Given the description of an element on the screen output the (x, y) to click on. 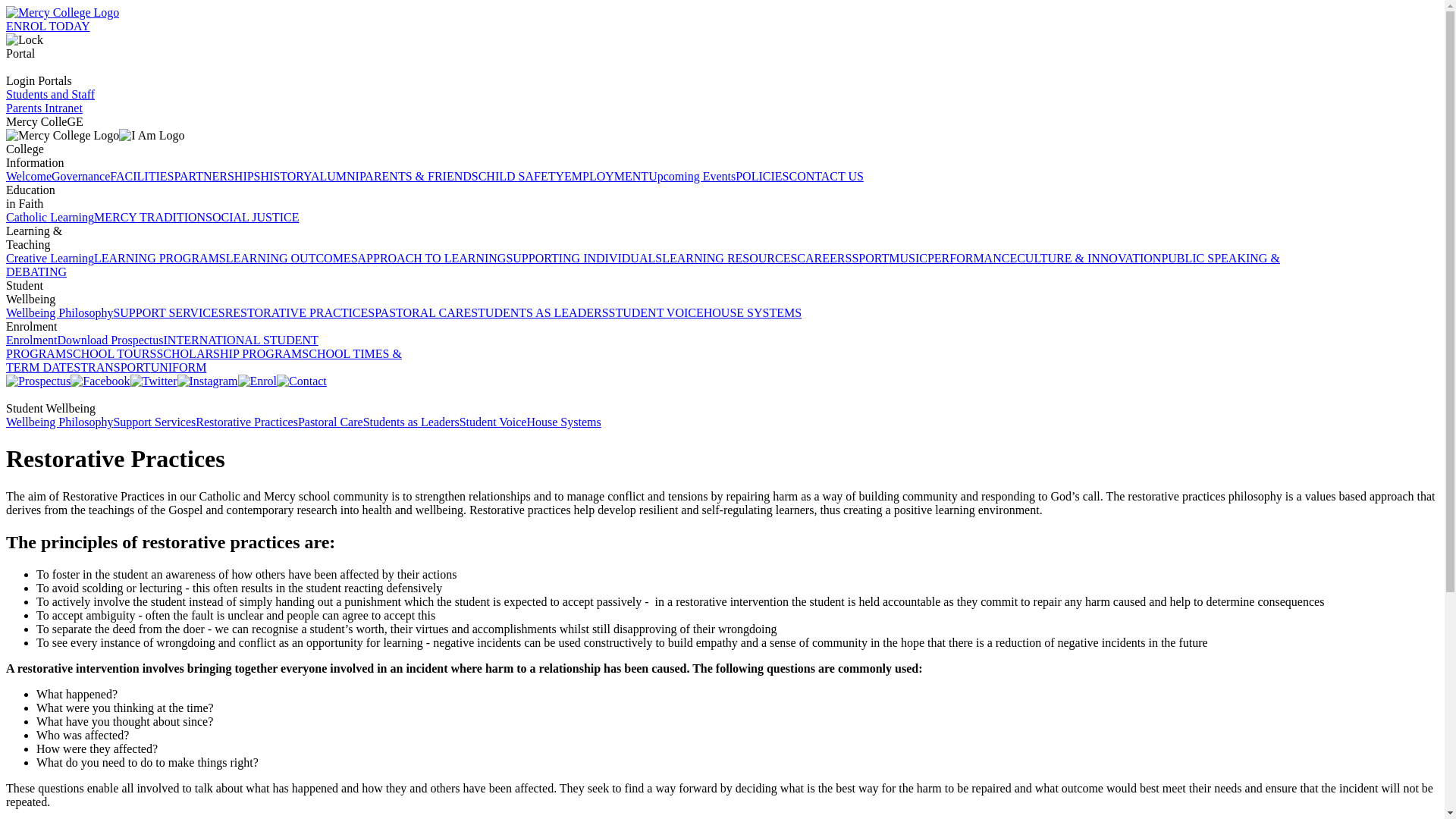
Governance (80, 175)
ALUMNI (335, 175)
Welcome (27, 175)
Enrolment (31, 339)
PASTORAL CARE (422, 312)
MUSIC (907, 257)
HOUSE SYSTEMS (752, 312)
Upcoming Events (691, 175)
HISTORY (285, 175)
Students and Staff (49, 93)
LEARNING RESOURCES (729, 257)
SPORT (869, 257)
SUPPORT SERVICES (168, 312)
Catholic Learning (49, 216)
FACILITIES (141, 175)
